Given the description of an element on the screen output the (x, y) to click on. 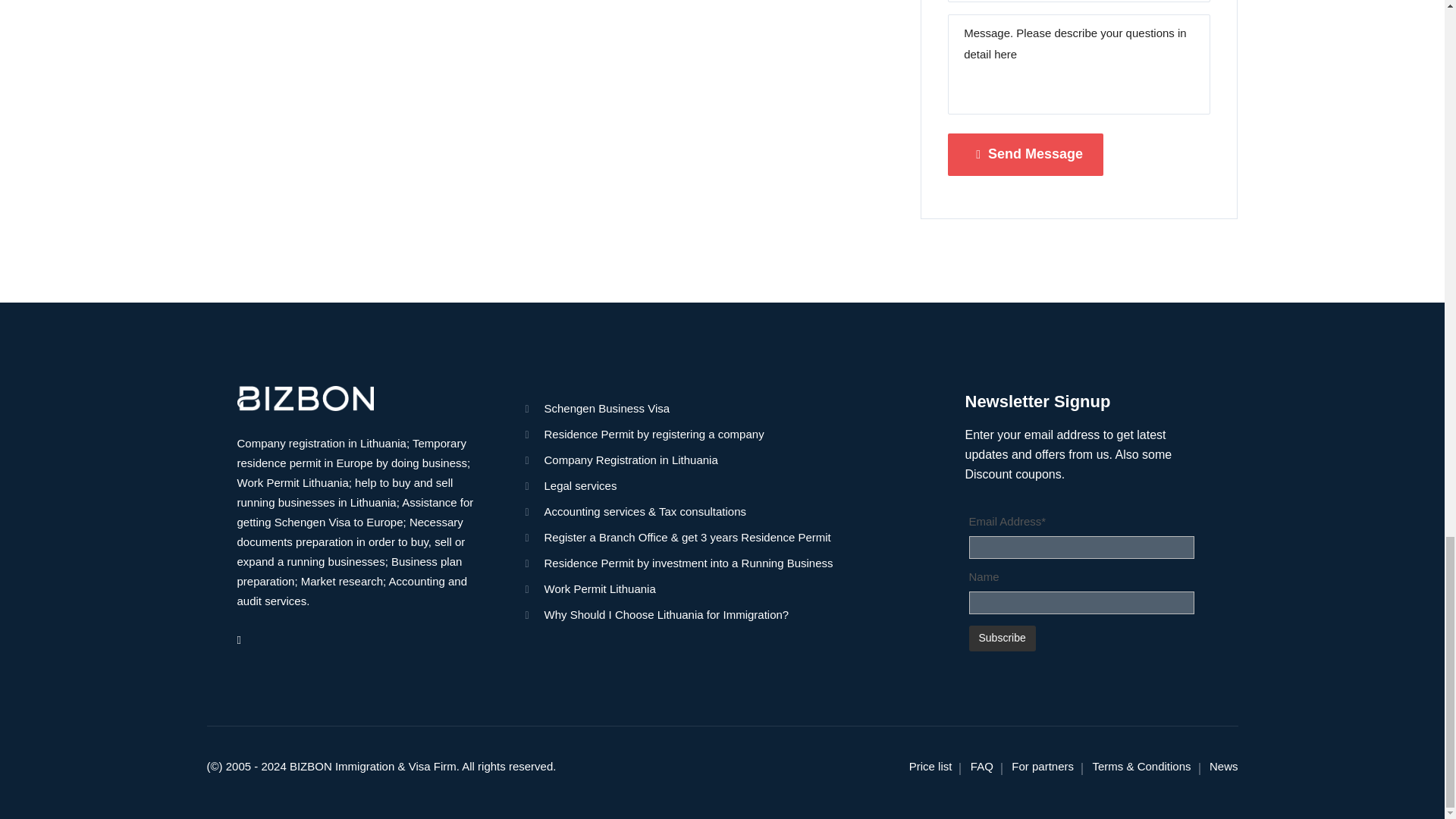
small-logo (303, 398)
Subscribe (1002, 638)
